Given the description of an element on the screen output the (x, y) to click on. 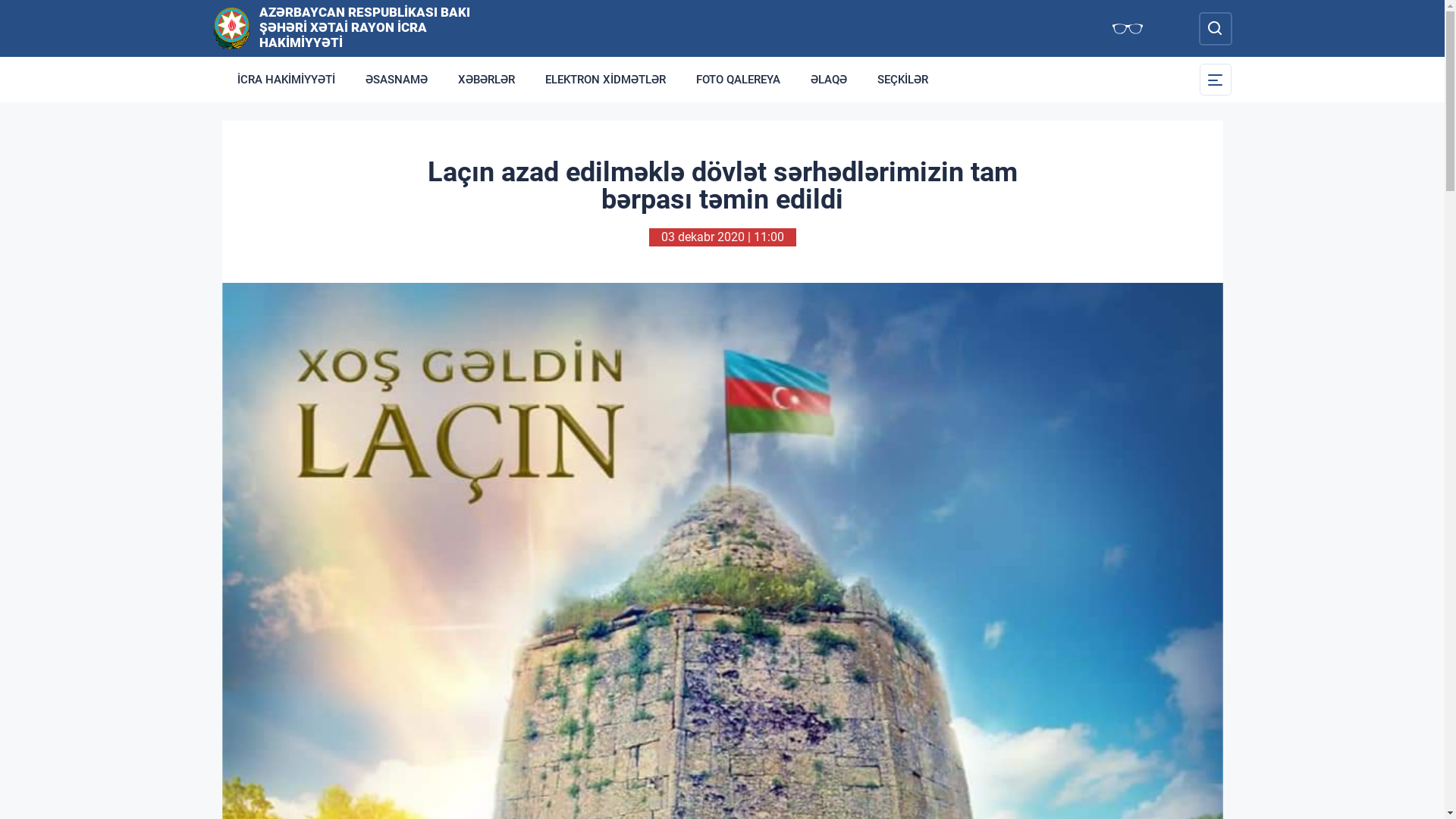
FOTO QALEREYA Element type: text (737, 79)
